Given the description of an element on the screen output the (x, y) to click on. 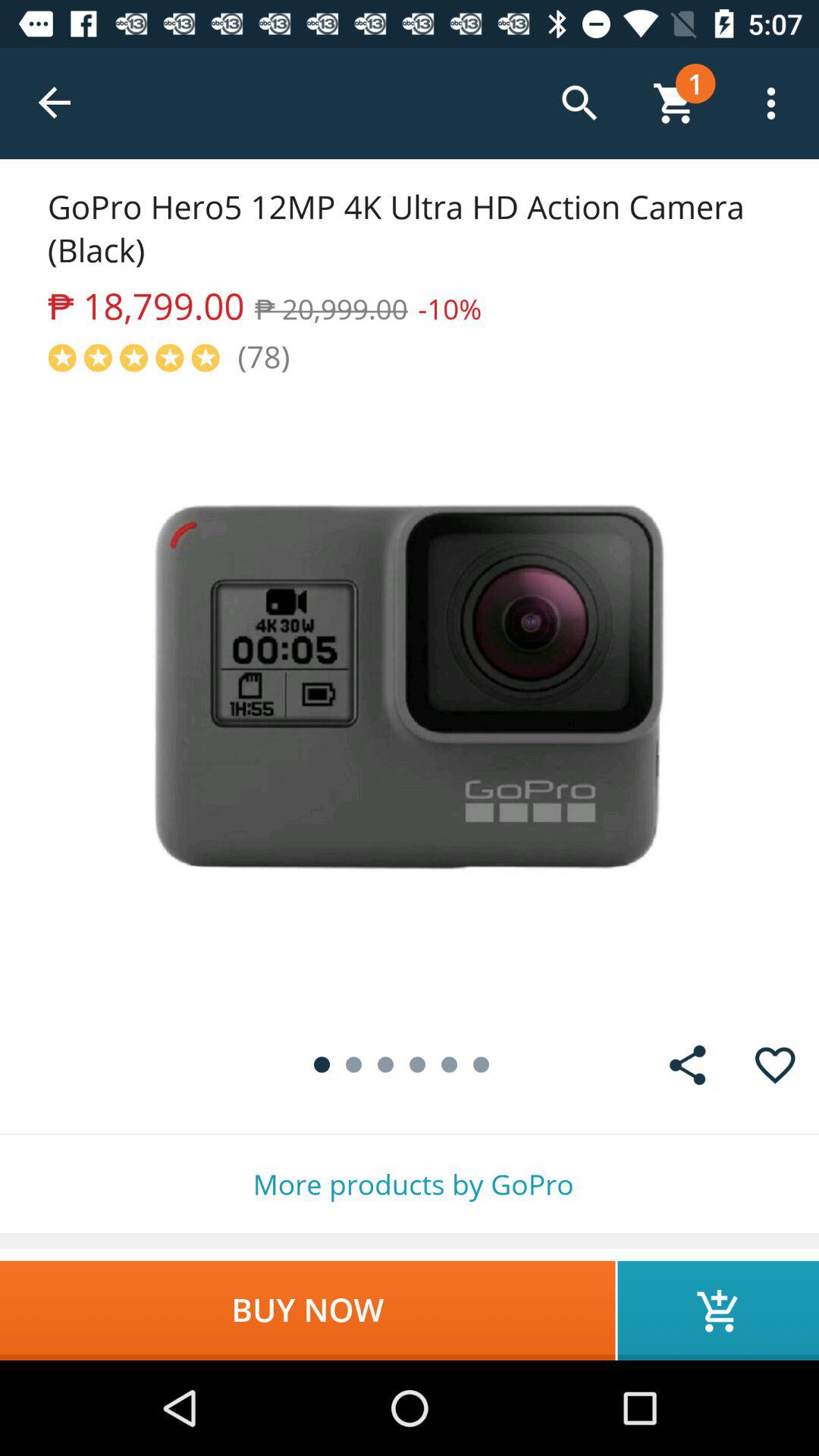
choose buy now icon (307, 1310)
